Given the description of an element on the screen output the (x, y) to click on. 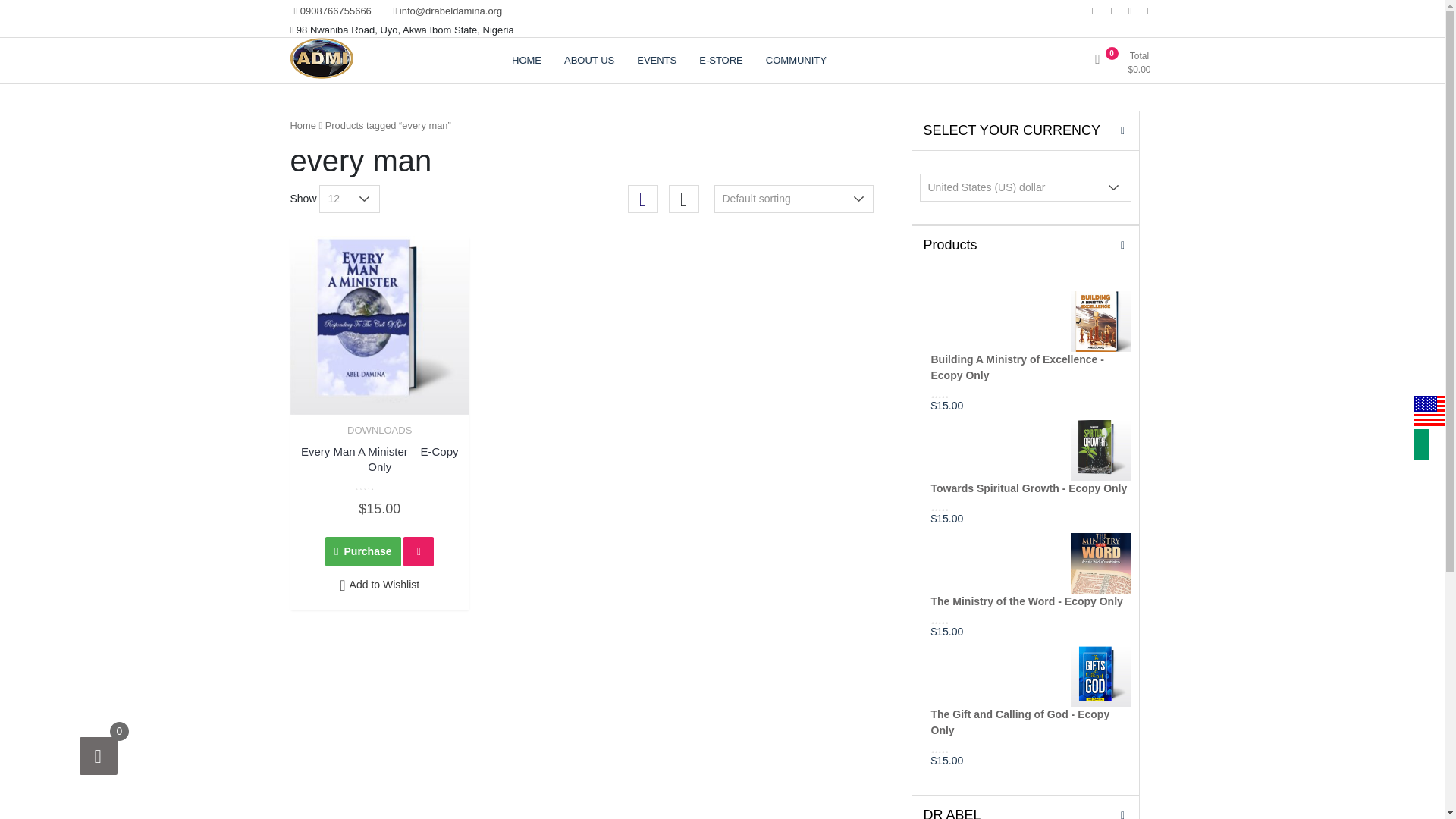
HOME (526, 60)
Compare (418, 551)
The Ministry of the Word - Ecopy Only (1031, 572)
No Review (959, 747)
Building A Ministry of Excellence - Ecopy Only (1031, 339)
Abel Damina Ministries International (358, 130)
Towards Spiritual Growth - Ecopy Only (1031, 460)
COMMUNITY (796, 60)
ABOUT US (589, 60)
E-STORE (720, 60)
No Review (379, 484)
No Review (959, 505)
Home (302, 125)
EVENTS (656, 60)
DOWNLOADS (379, 430)
